Given the description of an element on the screen output the (x, y) to click on. 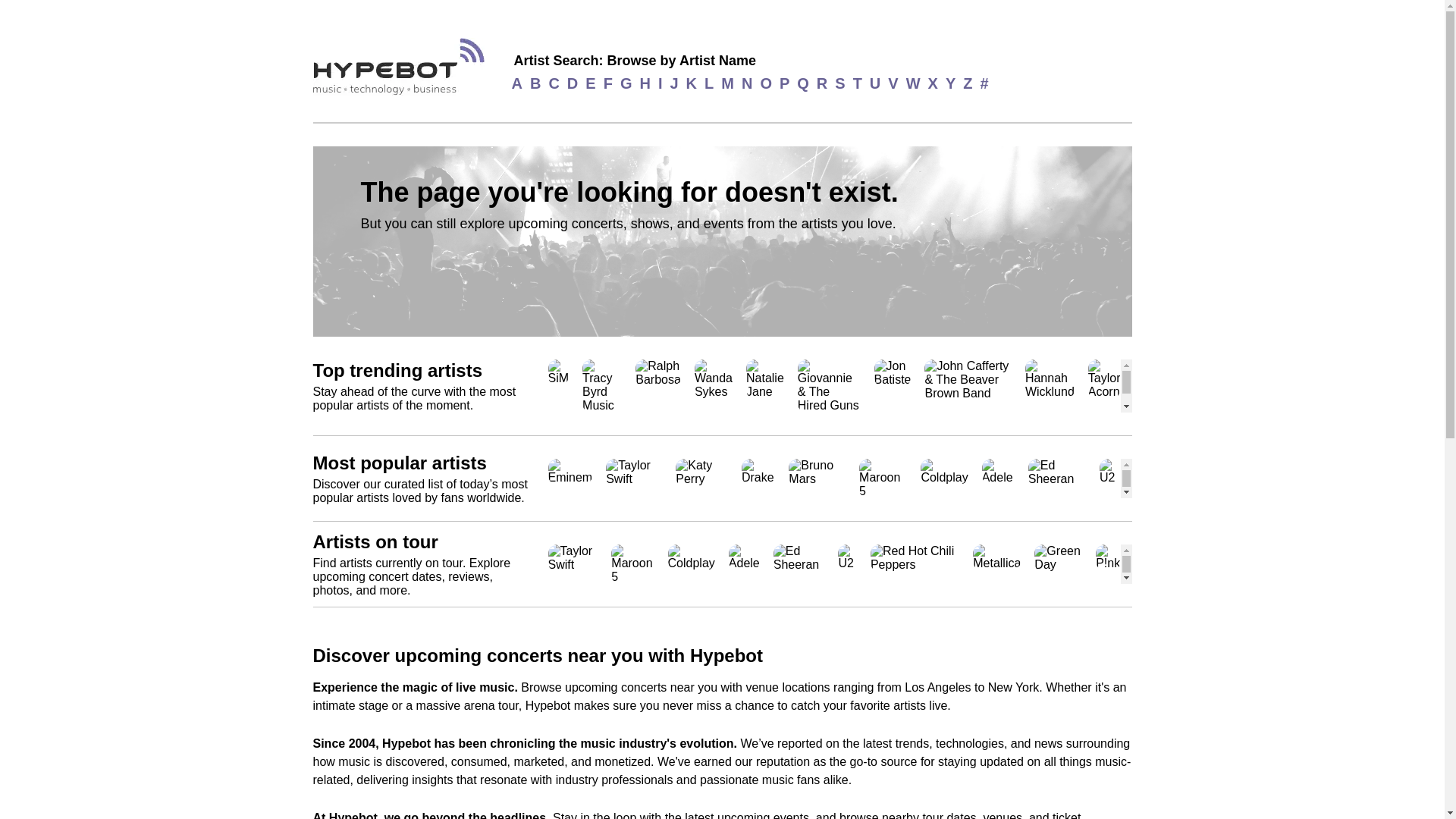
Hannah Wicklund (1049, 385)
Eminem (569, 477)
Taylor Swift (633, 477)
